Given the description of an element on the screen output the (x, y) to click on. 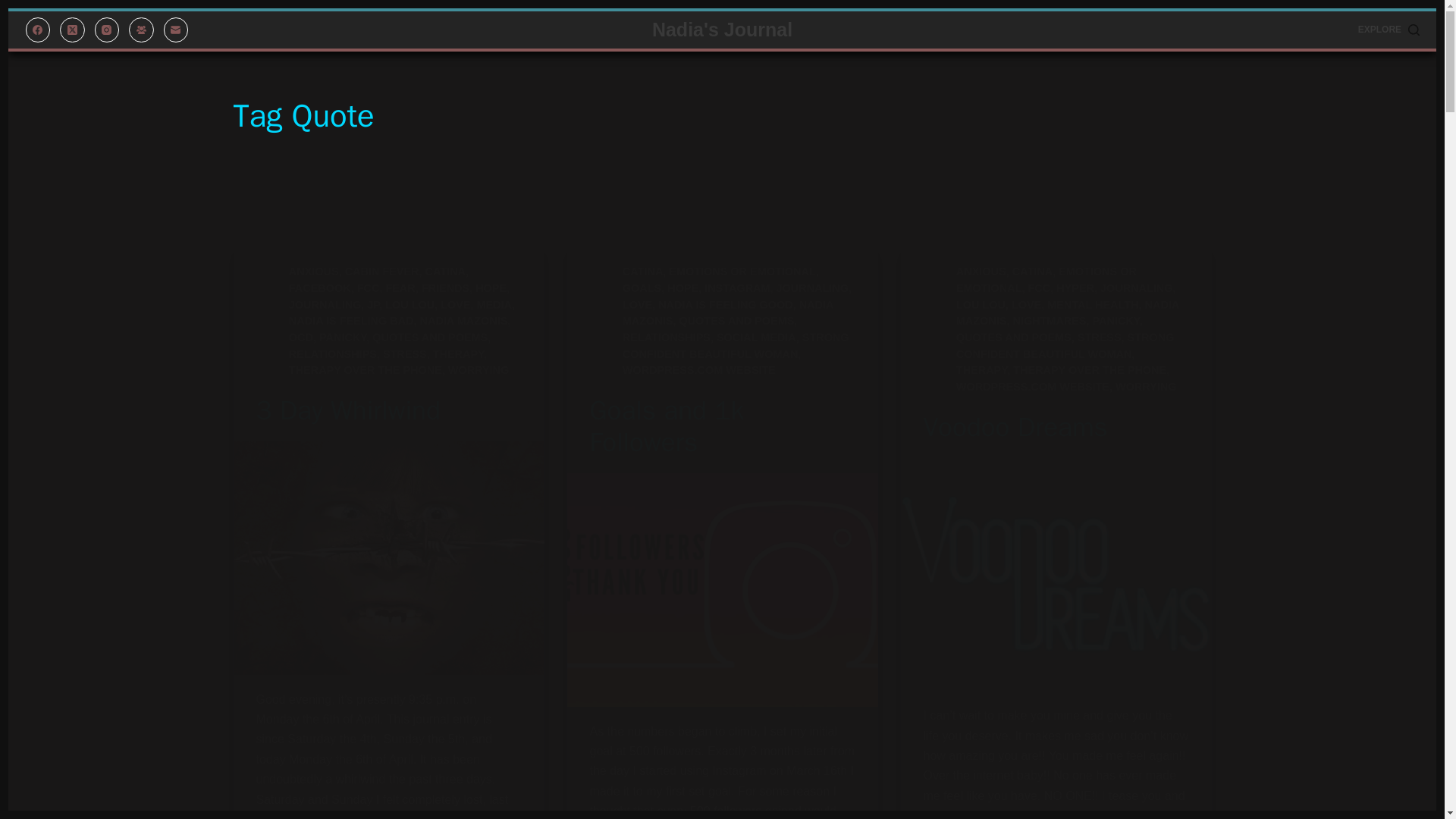
QUOTES AND POEMS (429, 337)
3 Day Whirlwind (348, 409)
FCC (368, 287)
OCD (300, 337)
LOVE (455, 304)
CATINA (642, 271)
Tag Quote (721, 116)
HOPE (491, 287)
PANICKY (342, 337)
NADIA IS FEELING BAD (350, 320)
Skip to content (15, 7)
WORRYING (478, 369)
EXPLORE (1388, 29)
MEDIA (494, 304)
JP (372, 304)
